Given the description of an element on the screen output the (x, y) to click on. 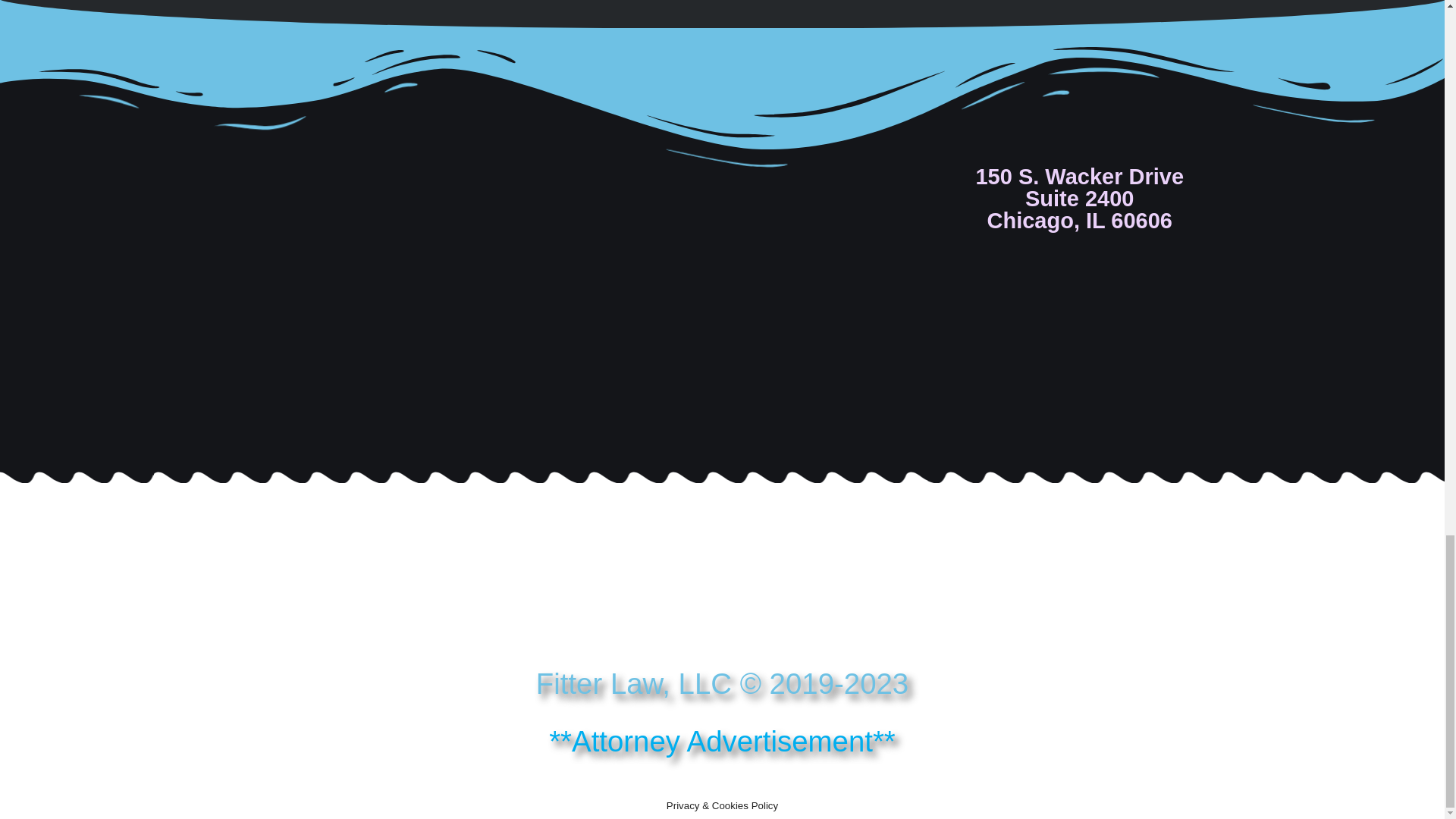
Contact Us (915, 2)
